Given the description of an element on the screen output the (x, y) to click on. 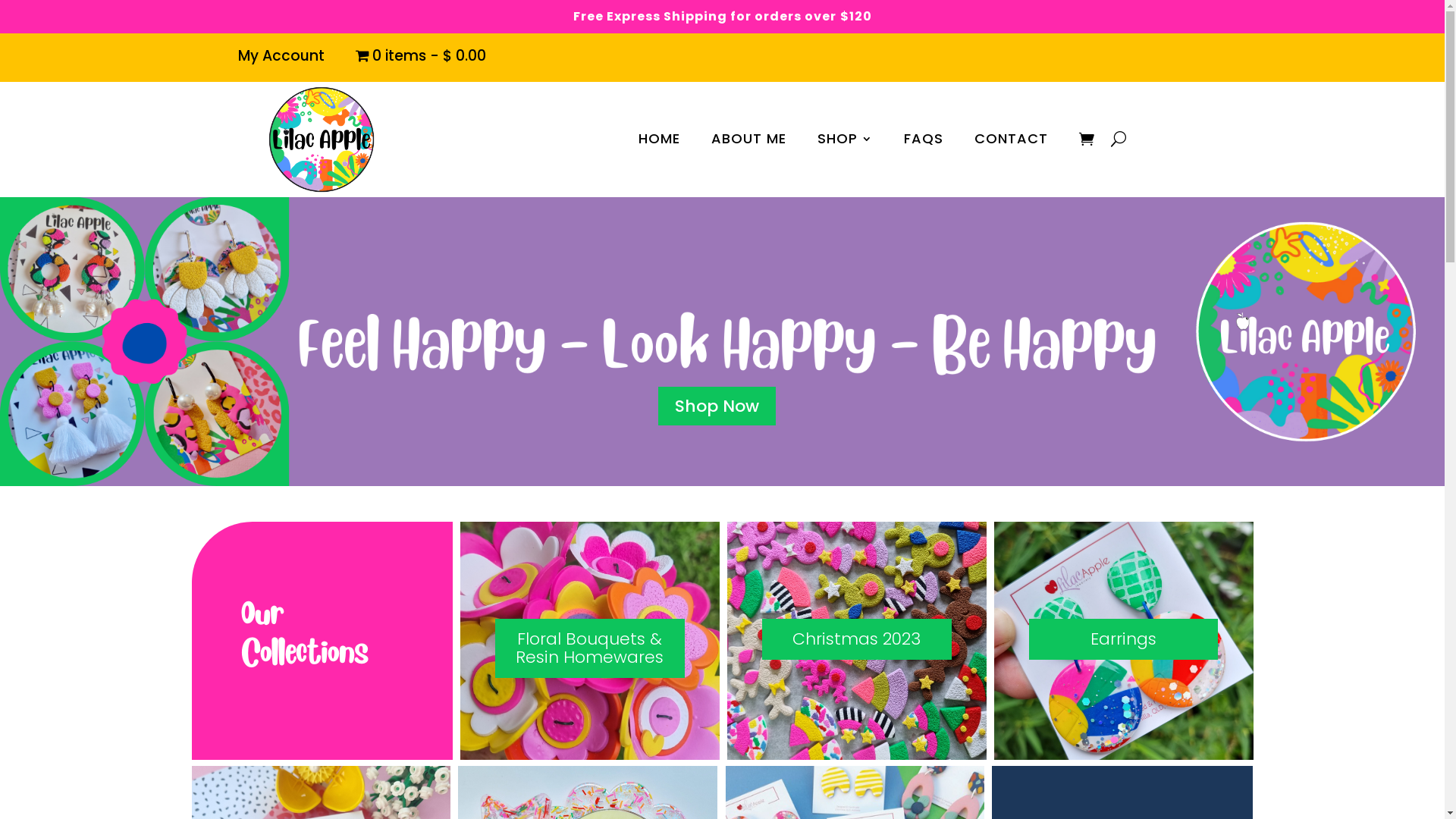
Shop Now Element type: text (716, 405)
SHOP Element type: text (844, 141)
CONTACT Element type: text (1011, 141)
0 items$ 0.00 Element type: text (419, 59)
ABOUT ME Element type: text (748, 141)
FAQS Element type: text (923, 141)
My Account Element type: text (281, 59)
HOME Element type: text (659, 141)
Lilac Apple Logo Element type: hover (320, 139)
